Given the description of an element on the screen output the (x, y) to click on. 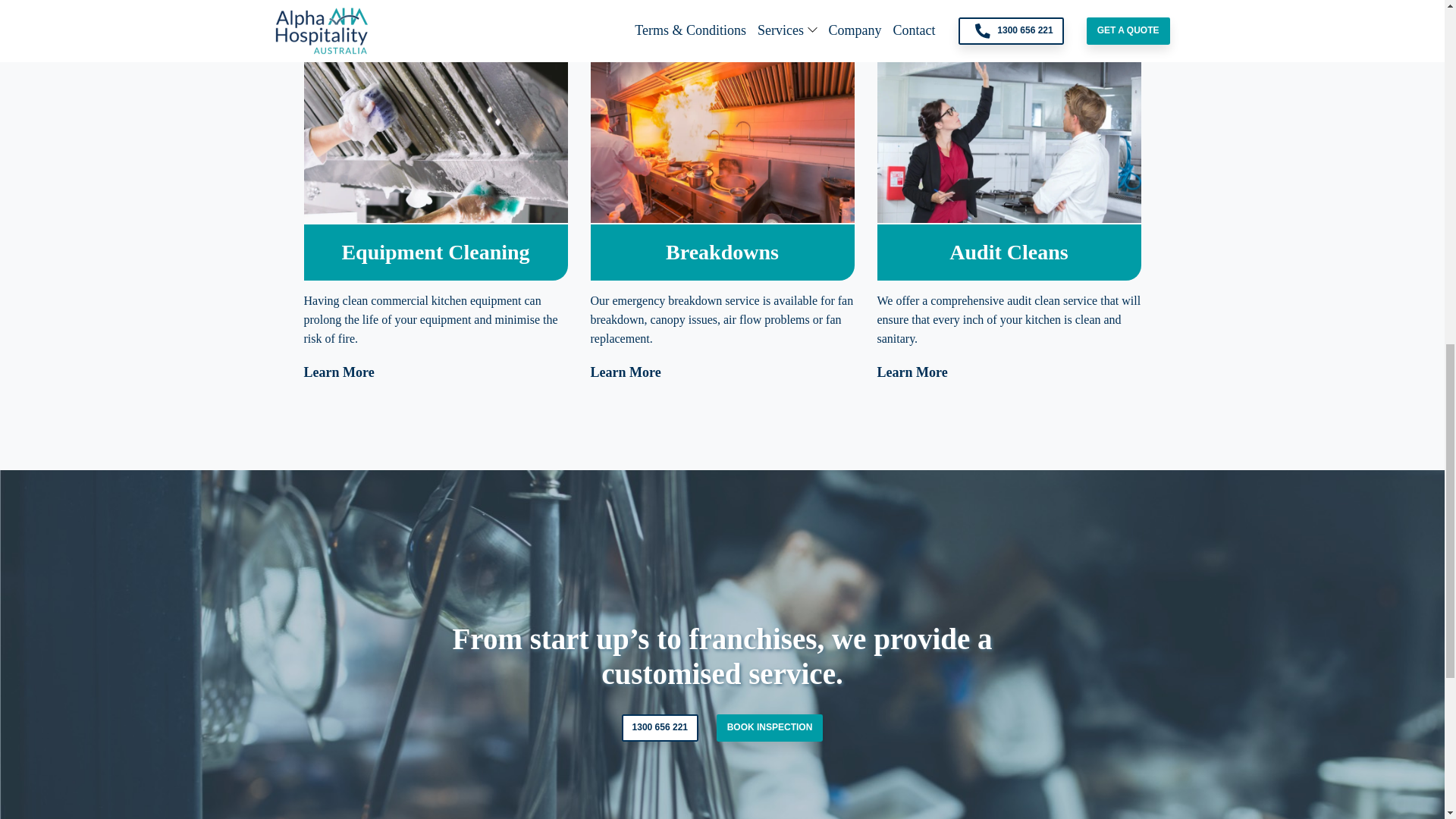
BOOK INSPECTION (770, 728)
Equipment Cleaning (434, 251)
Audit Cleans (1008, 251)
Learn More (911, 20)
Learn More (338, 20)
Breakdowns (721, 251)
Learn More (911, 372)
1300 656 221 (659, 728)
Learn More (338, 372)
Learn More (625, 372)
Learn More (625, 20)
